Given the description of an element on the screen output the (x, y) to click on. 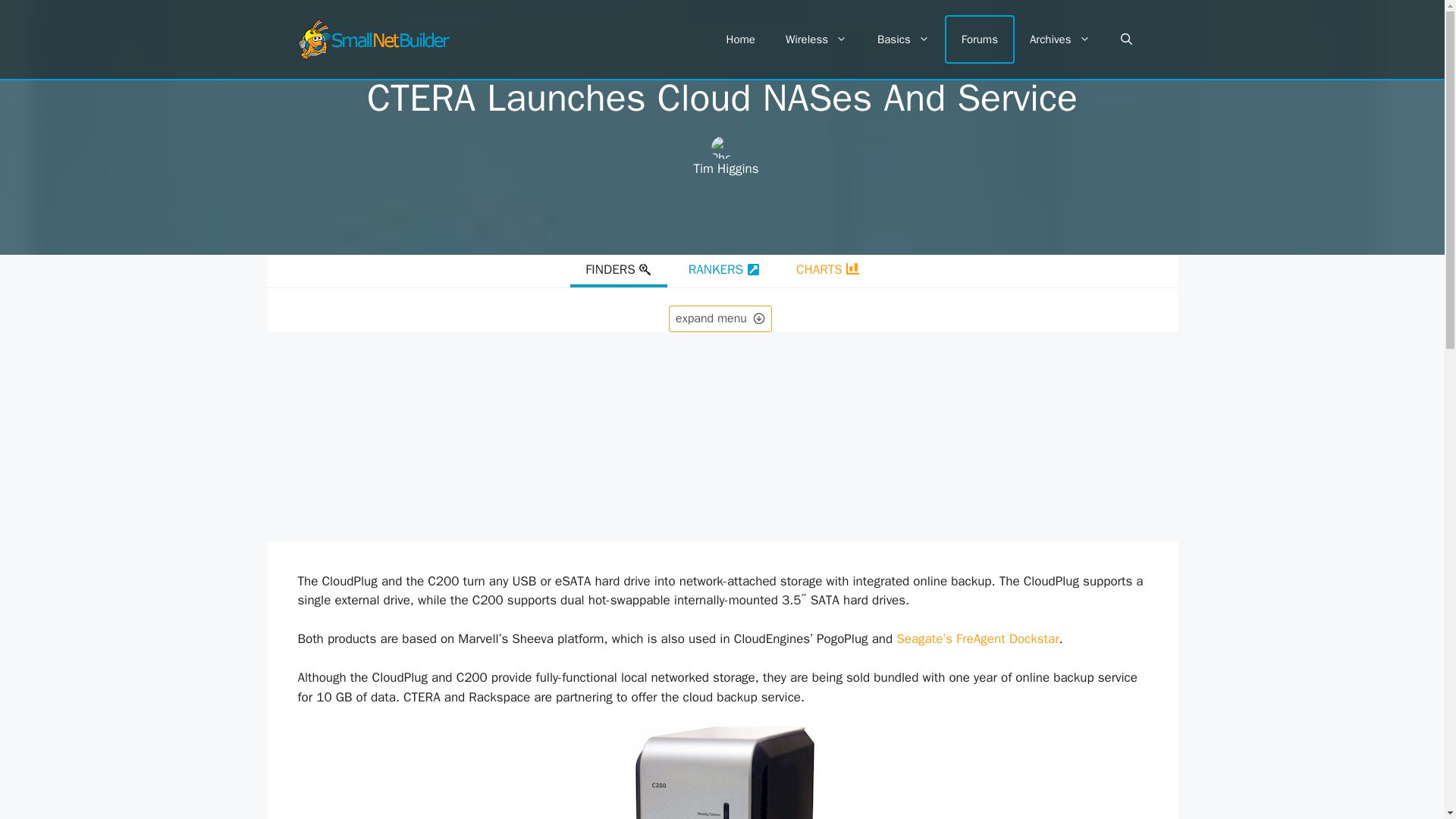
CTERA C200 (721, 772)
Forums (979, 39)
Archives (1059, 39)
Basics (902, 39)
Wireless (815, 39)
Home (740, 39)
